Given the description of an element on the screen output the (x, y) to click on. 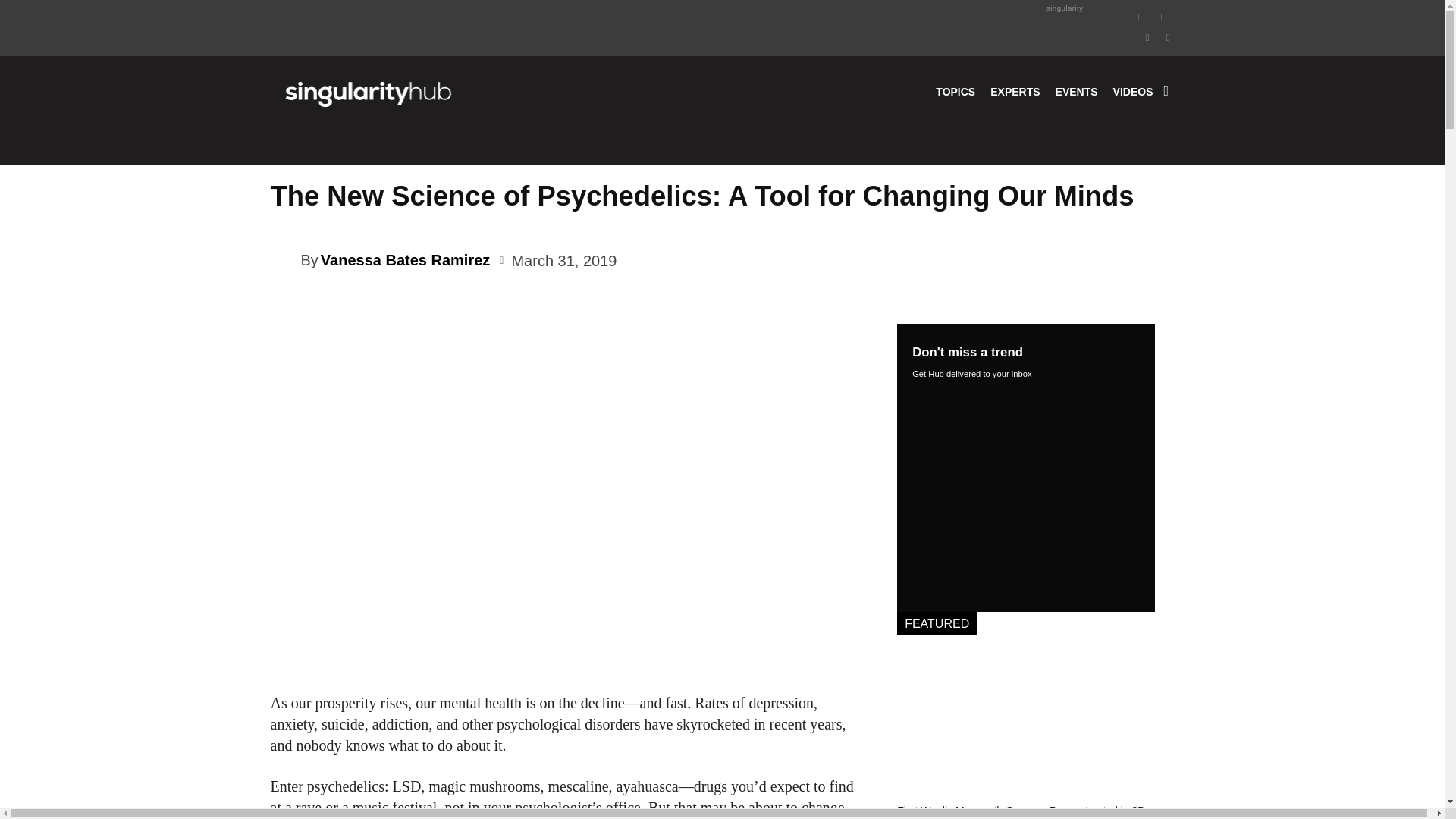
Youtube (1167, 35)
Instagram (1160, 15)
Vanessa Bates Ramirez (284, 259)
TOPICS (955, 91)
EXPERTS (1014, 91)
Twitter (1147, 35)
Facebook (1140, 15)
